Given the description of an element on the screen output the (x, y) to click on. 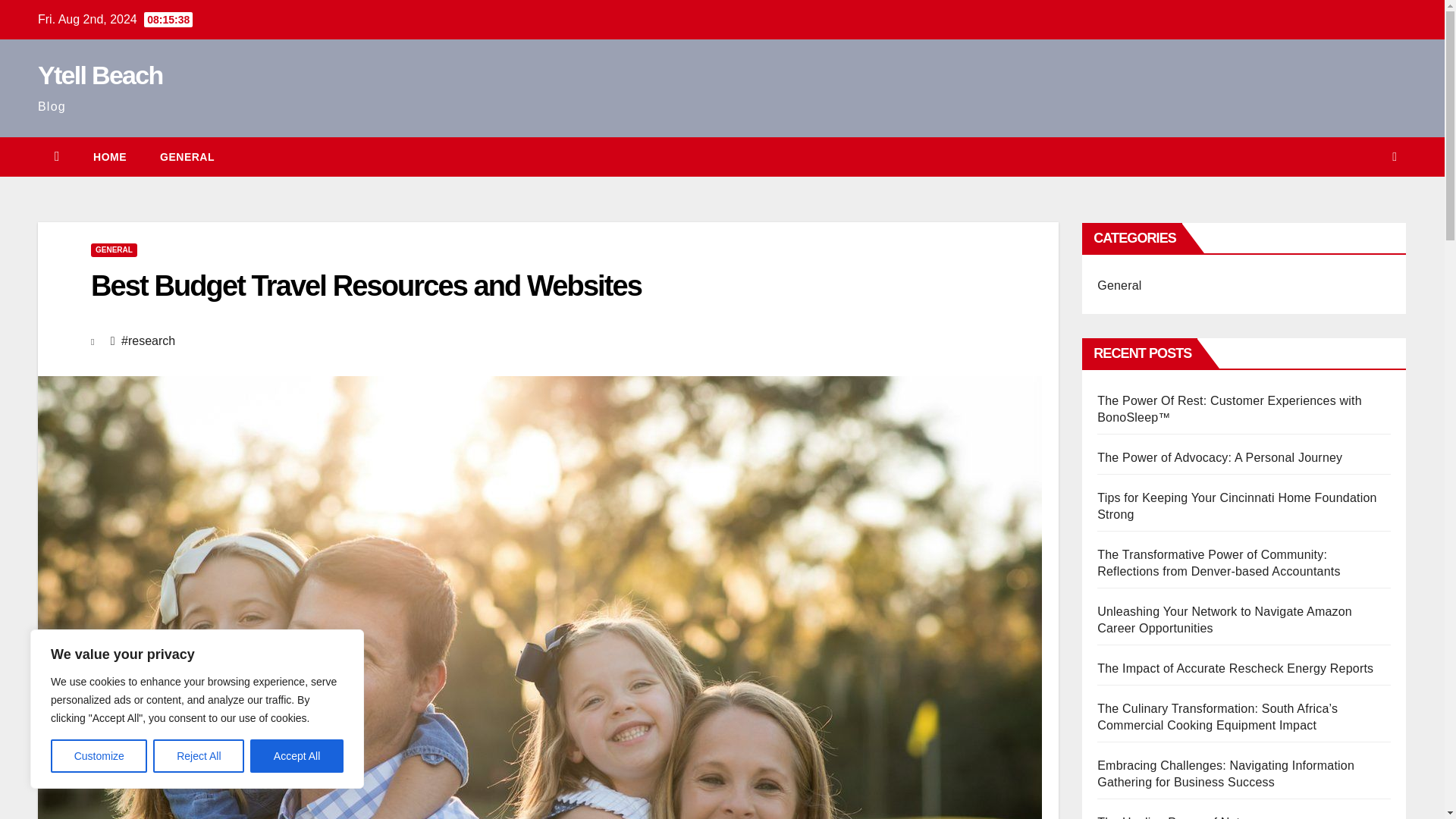
Ytell Beach (100, 74)
Permalink to: Best Budget Travel Resources and Websites (366, 286)
GENERAL (186, 156)
Best Budget Travel Resources and Websites (366, 286)
General (186, 156)
Accept All (296, 756)
HOME (109, 156)
Home (109, 156)
Customize (98, 756)
GENERAL (113, 250)
